Given the description of an element on the screen output the (x, y) to click on. 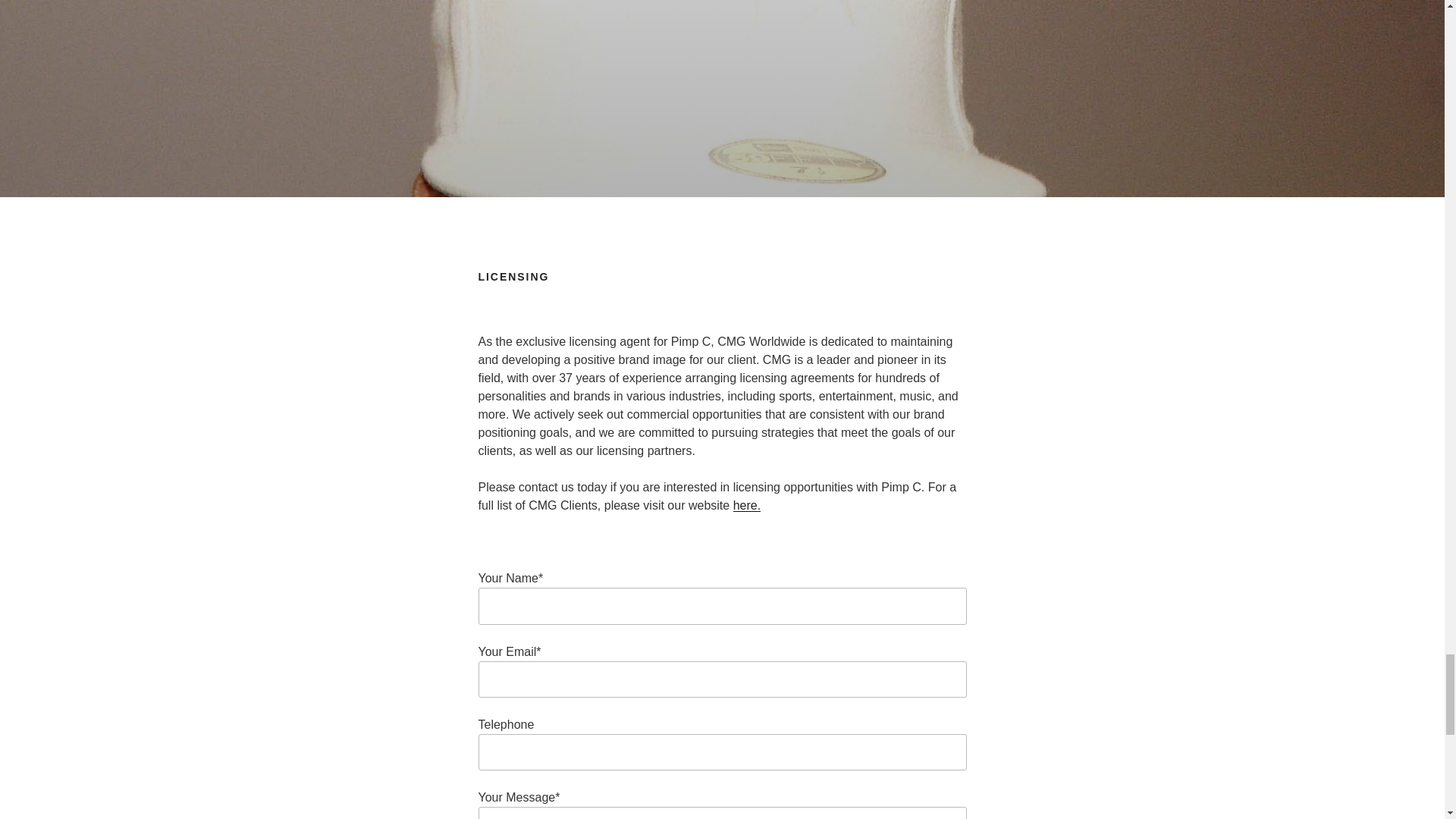
here. (746, 504)
